Given the description of an element on the screen output the (x, y) to click on. 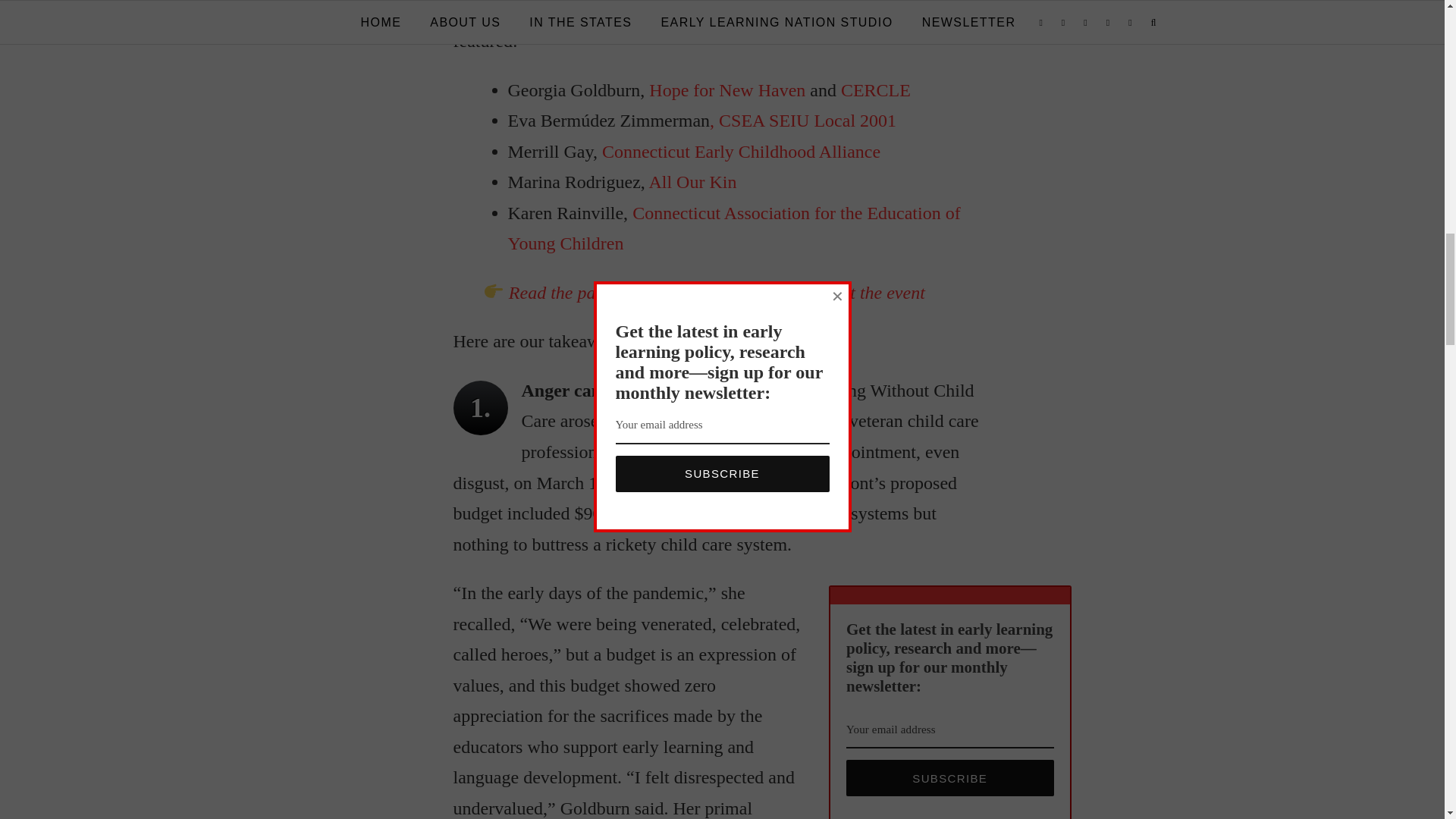
Subscribe (949, 778)
All Our Kin (691, 181)
CERCLE (876, 89)
Hope for New Haven (727, 89)
Read the panelist bios and discover more about the event (716, 292)
Connecticut Association for the Education of Young Children (734, 228)
Subscribe (949, 778)
, CSEA SEIU Local 2001 (803, 120)
Connecticut Early Childhood Alliance (741, 151)
